Given the description of an element on the screen output the (x, y) to click on. 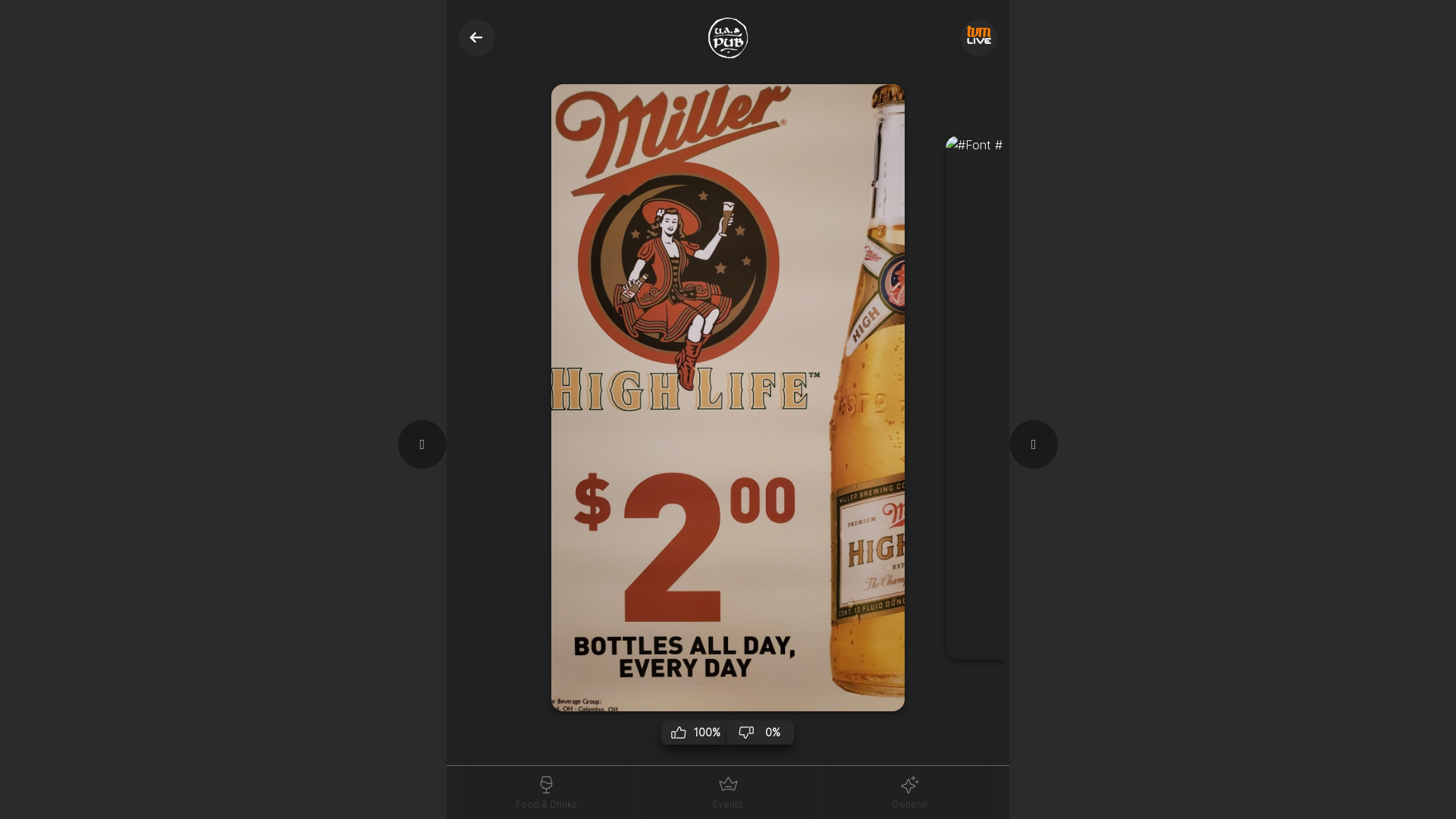
Back to Home Element type: hover (476, 37)
23% Element type: text (1125, 680)
77% Element type: text (1059, 680)
0% Element type: text (760, 732)
100% Element type: text (694, 732)
